Given the description of an element on the screen output the (x, y) to click on. 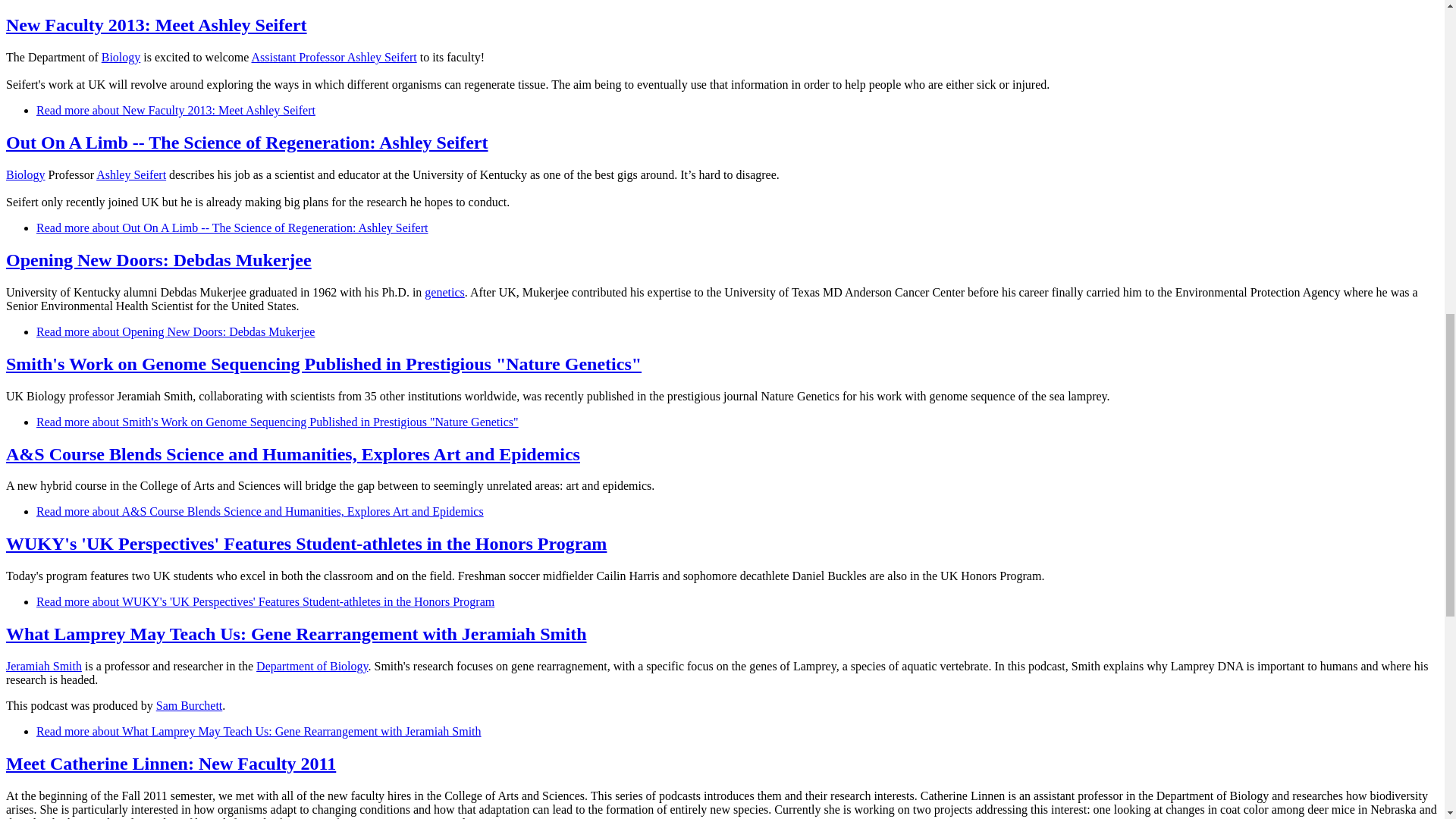
Opening New Doors: Debdas Mukerjee (175, 331)
Out On A Limb -- The Science of Regeneration: Ashley Seifert (232, 227)
New Faculty 2013: Meet Ashley Seifert (175, 110)
